Given the description of an element on the screen output the (x, y) to click on. 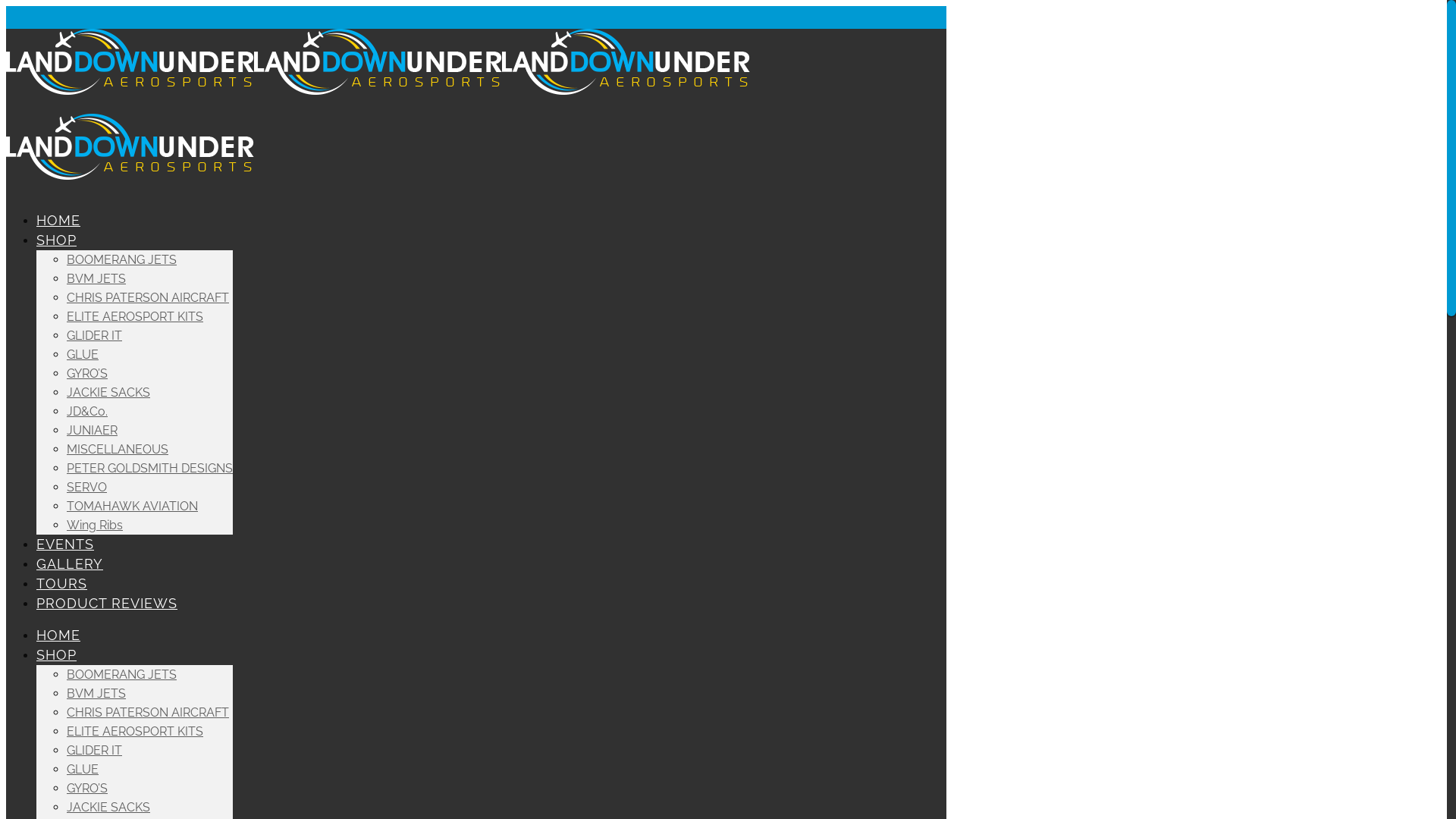
HOME Element type: text (58, 634)
CHRIS PATERSON AIRCRAFT Element type: text (147, 712)
JACKIE SACKS Element type: text (108, 392)
EVENTS Element type: text (65, 543)
ELITE AEROSPORT KITS Element type: text (134, 731)
SHOP Element type: text (56, 654)
BOOMERANG JETS Element type: text (121, 259)
GLIDER IT Element type: text (94, 750)
GLUE Element type: text (82, 769)
GLIDER IT Element type: text (94, 335)
BOOMERANG JETS Element type: text (121, 674)
TOURS Element type: text (61, 583)
BVM JETS Element type: text (95, 693)
CHRIS PATERSON AIRCRAFT Element type: text (147, 297)
JUNIAER Element type: text (91, 430)
JD&Co. Element type: text (86, 411)
HOME Element type: text (58, 219)
TOMAHAWK AVIATION Element type: text (131, 505)
MISCELLANEOUS Element type: text (117, 449)
JACKIE SACKS Element type: text (108, 807)
Wing Ribs Element type: text (94, 524)
SHOP Element type: text (56, 239)
BVM JETS Element type: text (95, 278)
GALLERY Element type: text (69, 563)
ELITE AEROSPORT KITS Element type: text (134, 316)
SERVO Element type: text (86, 487)
PRODUCT REVIEWS Element type: text (106, 602)
GLUE Element type: text (82, 354)
PETER GOLDSMITH DESIGNS Element type: text (149, 468)
Land Down Under Aerosports Element type: hover (377, 133)
